Given the description of an element on the screen output the (x, y) to click on. 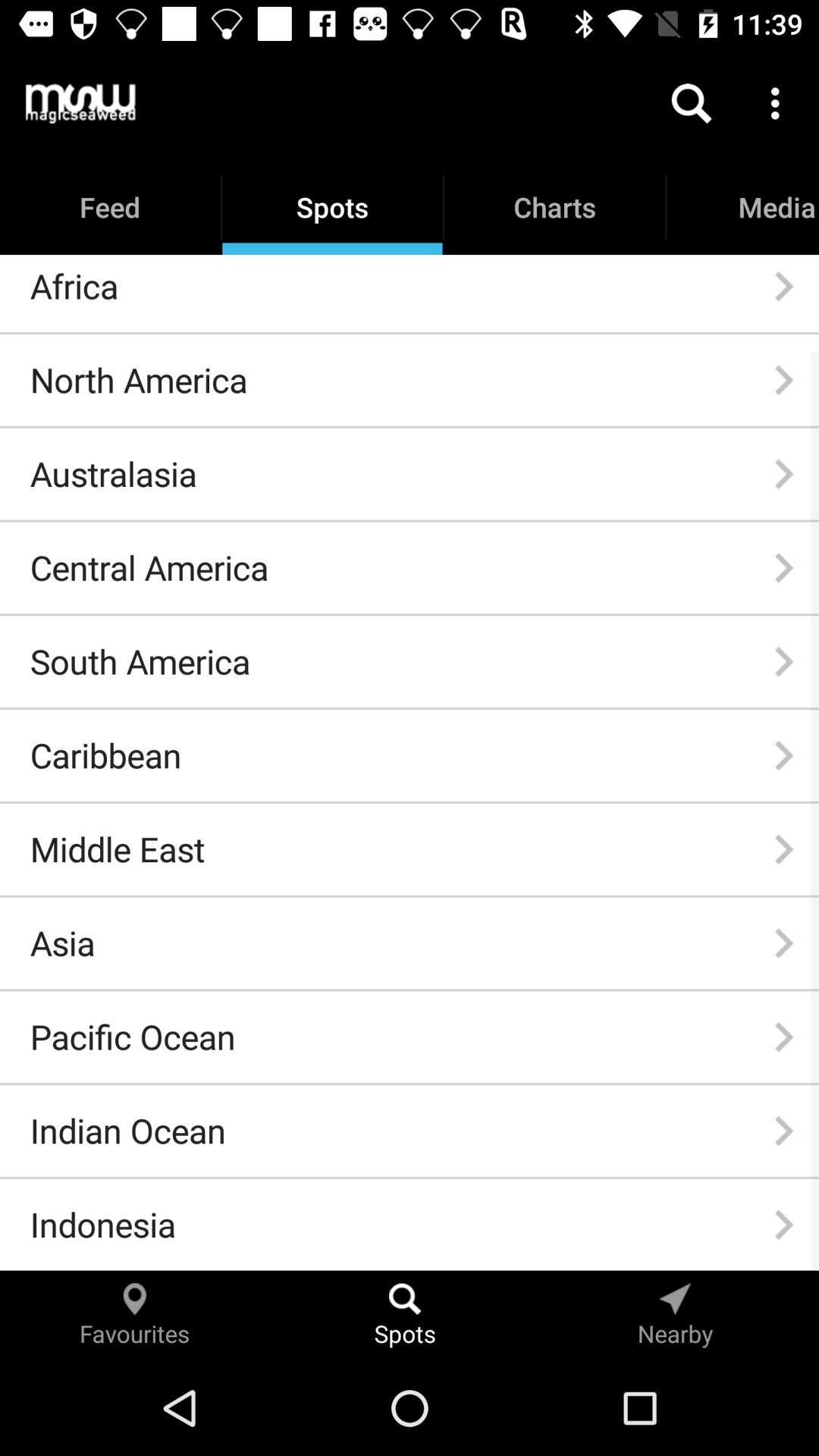
launch the indian ocean (127, 1130)
